Given the description of an element on the screen output the (x, y) to click on. 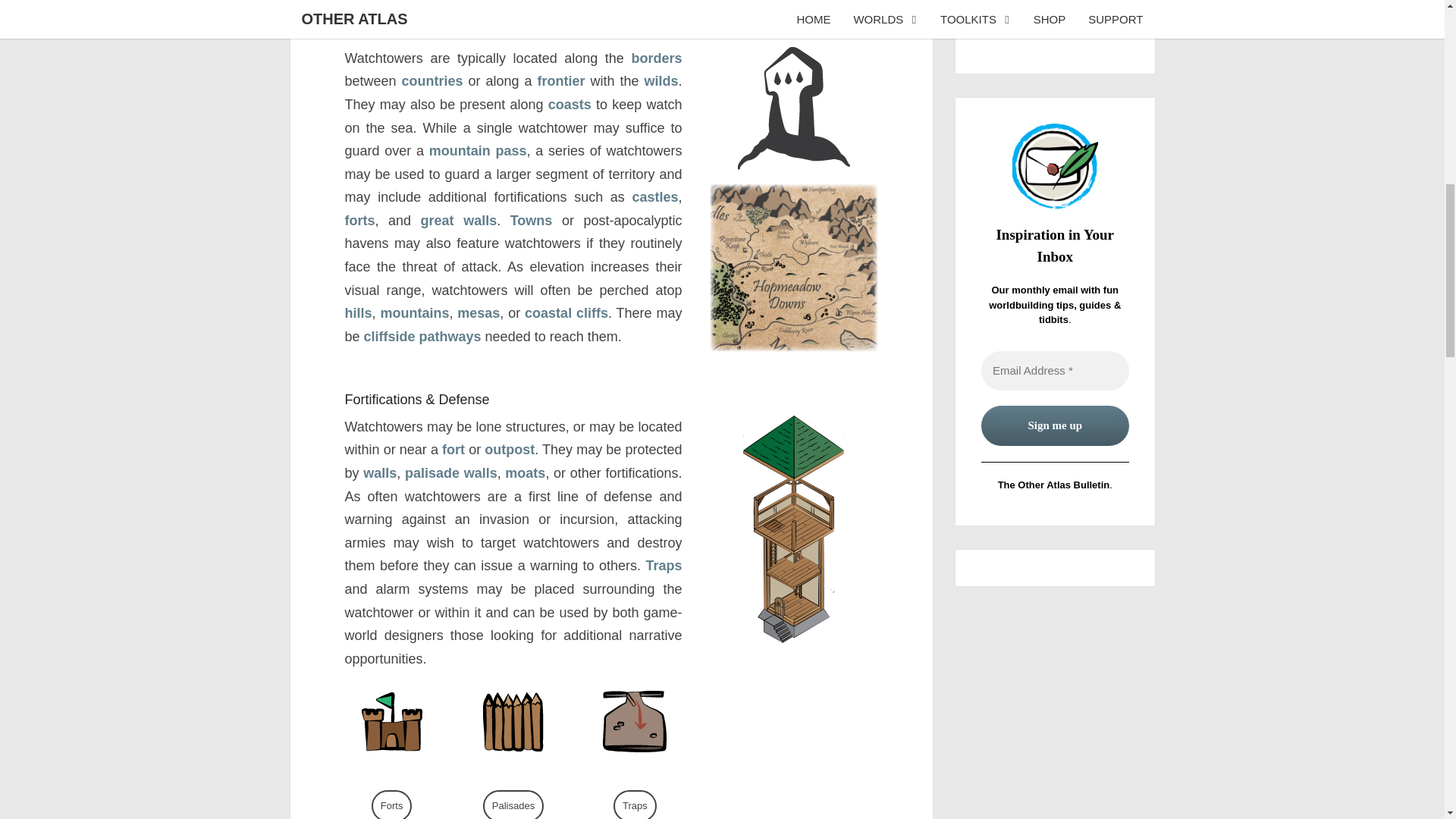
great walls (458, 220)
coasts (569, 104)
borders (655, 58)
countries (432, 80)
wilds (660, 80)
Wigit Tip 108-01 (1055, 15)
Sign me up (1055, 425)
forts (358, 220)
castles (654, 196)
frontier (561, 80)
mountain pass (478, 150)
